Given the description of an element on the screen output the (x, y) to click on. 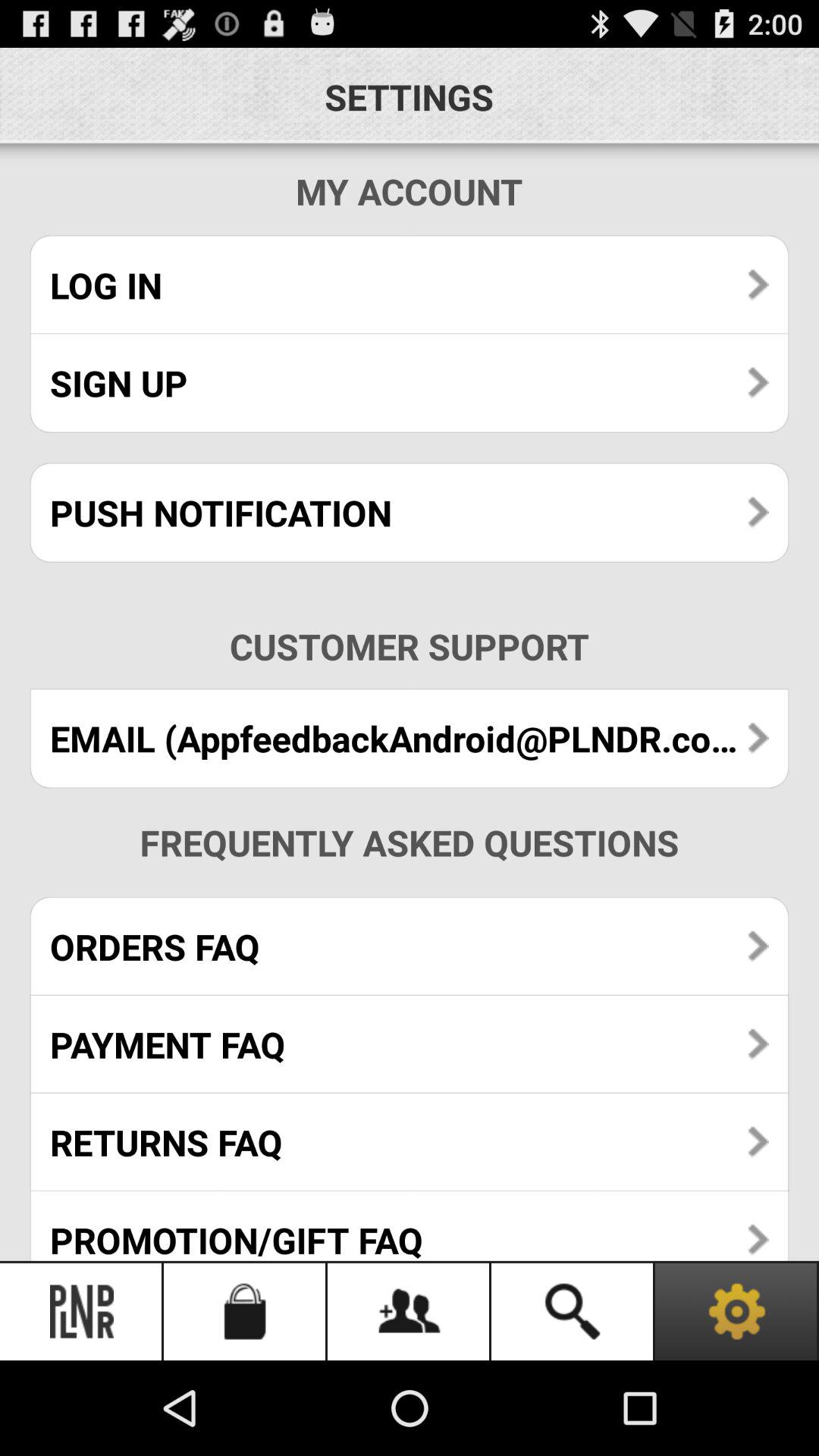
turn on the app above the push notification app (409, 382)
